Given the description of an element on the screen output the (x, y) to click on. 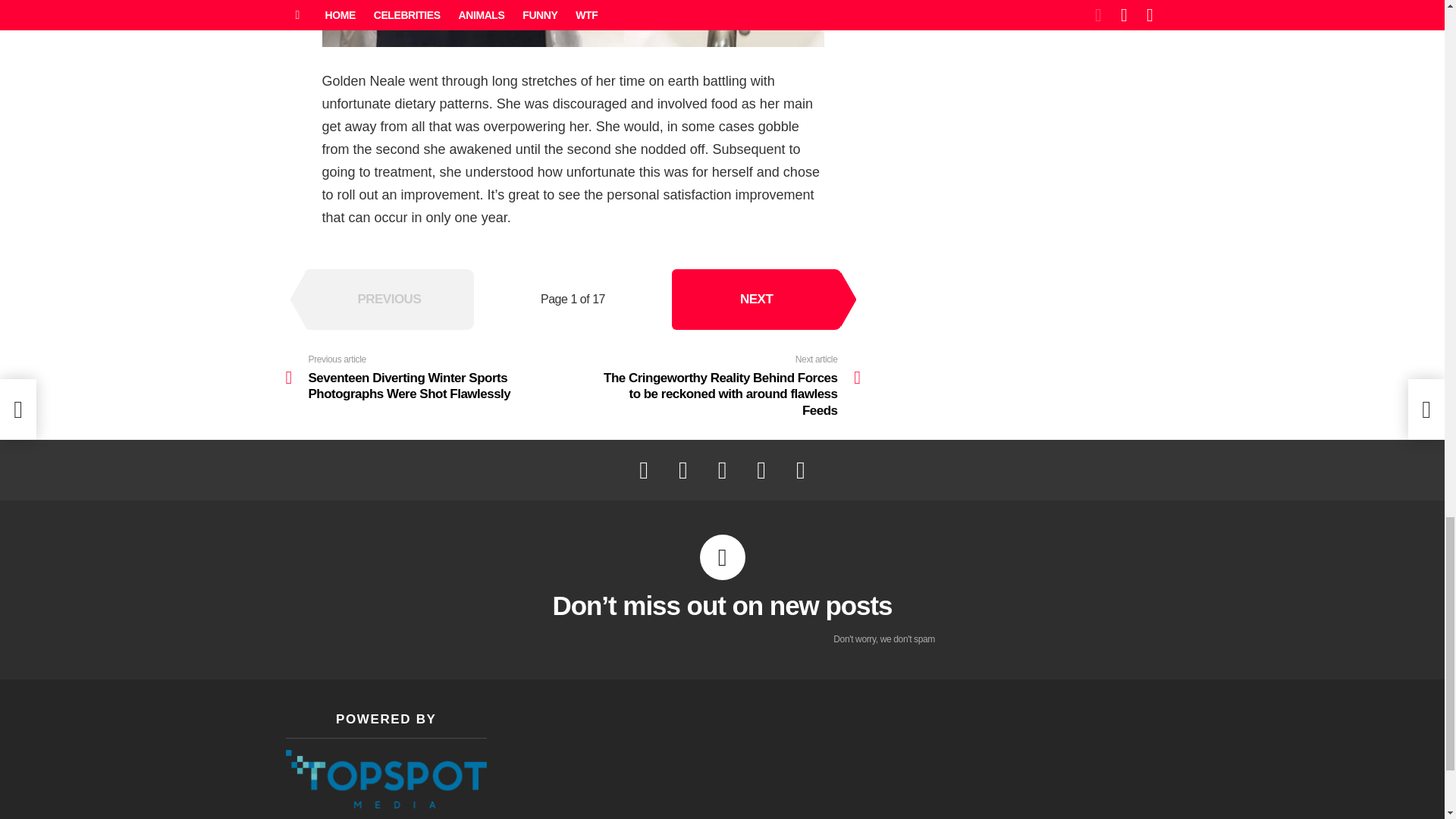
NEXT (756, 299)
